Given the description of an element on the screen output the (x, y) to click on. 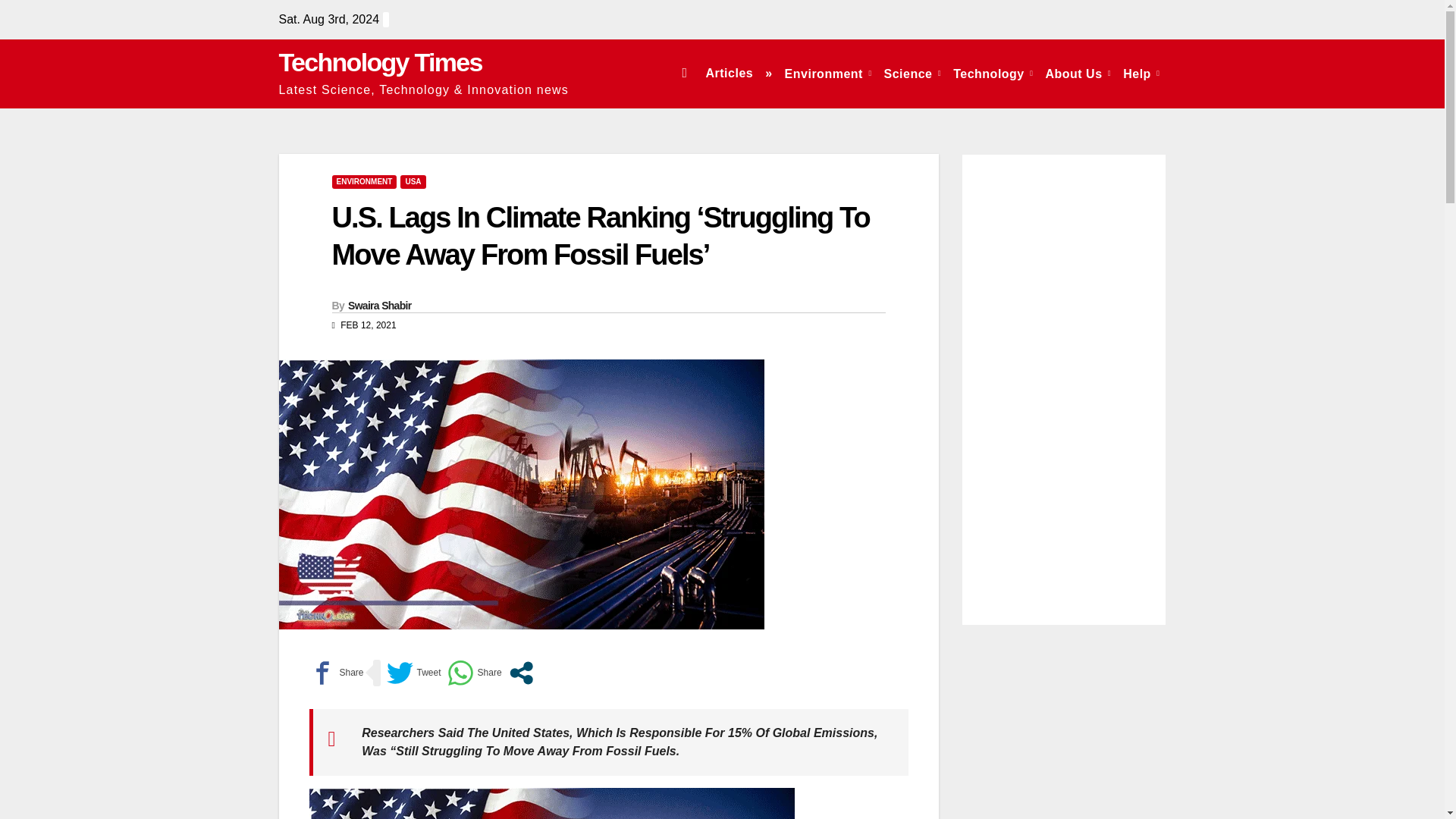
About Us (1077, 73)
Technology (993, 73)
Technology Times (380, 61)
Environment (827, 73)
Technology (993, 73)
Science (912, 73)
Environment (827, 73)
Science (912, 73)
